Given the description of an element on the screen output the (x, y) to click on. 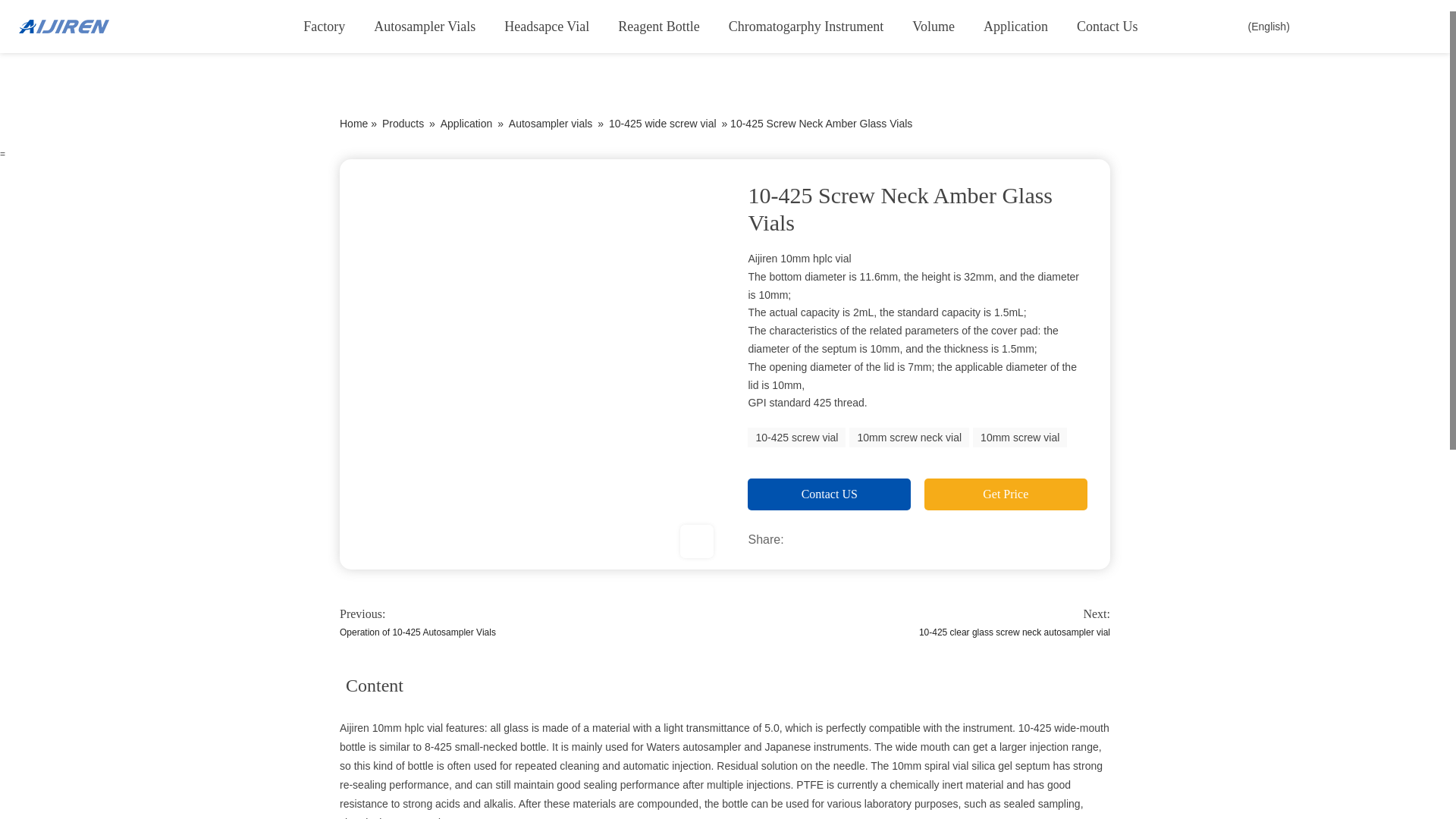
Chromatogarphy Instrument (806, 26)
Reagent Bottle (658, 26)
Headsapce Vial (546, 26)
Factory (323, 26)
Reagent Bottle (658, 26)
Headsapce vial (546, 26)
Autosampler vials (424, 26)
Factory (323, 26)
Autosampler Vials (424, 26)
Chromatogarphy instrument (806, 26)
